Given the description of an element on the screen output the (x, y) to click on. 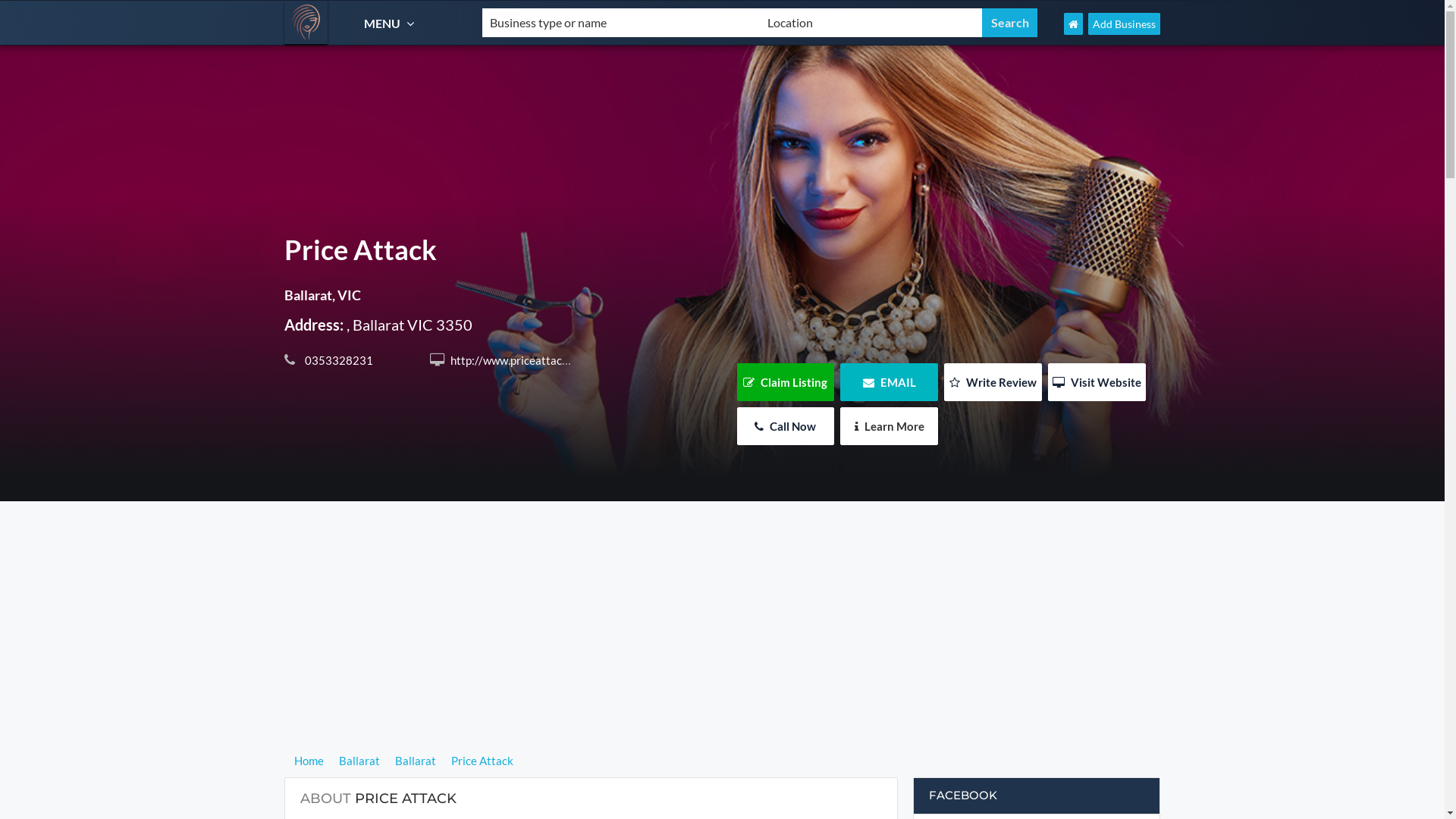
 Claim Listing Element type: text (785, 382)
Ballarat Element type: text (359, 760)
Add Business Element type: text (1124, 23)
 Call Now Element type: text (785, 426)
Price Attack Element type: text (503, 255)
 Visit Website Element type: text (1096, 382)
Advertisement Element type: hover (722, 645)
Search Element type: text (1009, 22)
 http://www.priceattack.com.au Element type: text (526, 359)
Hairdresser Find Home Page Element type: hover (1072, 23)
 EMAIL Element type: text (889, 382)
MENU Element type: text (390, 22)
Hairdresser Find Element type: hover (305, 21)
 Learn More Element type: text (889, 426)
 0353328231 Element type: text (337, 360)
Home Element type: text (310, 760)
Price Attack Element type: text (482, 760)
Ballarat Element type: text (415, 760)
 Write Review Element type: text (992, 382)
